Given the description of an element on the screen output the (x, y) to click on. 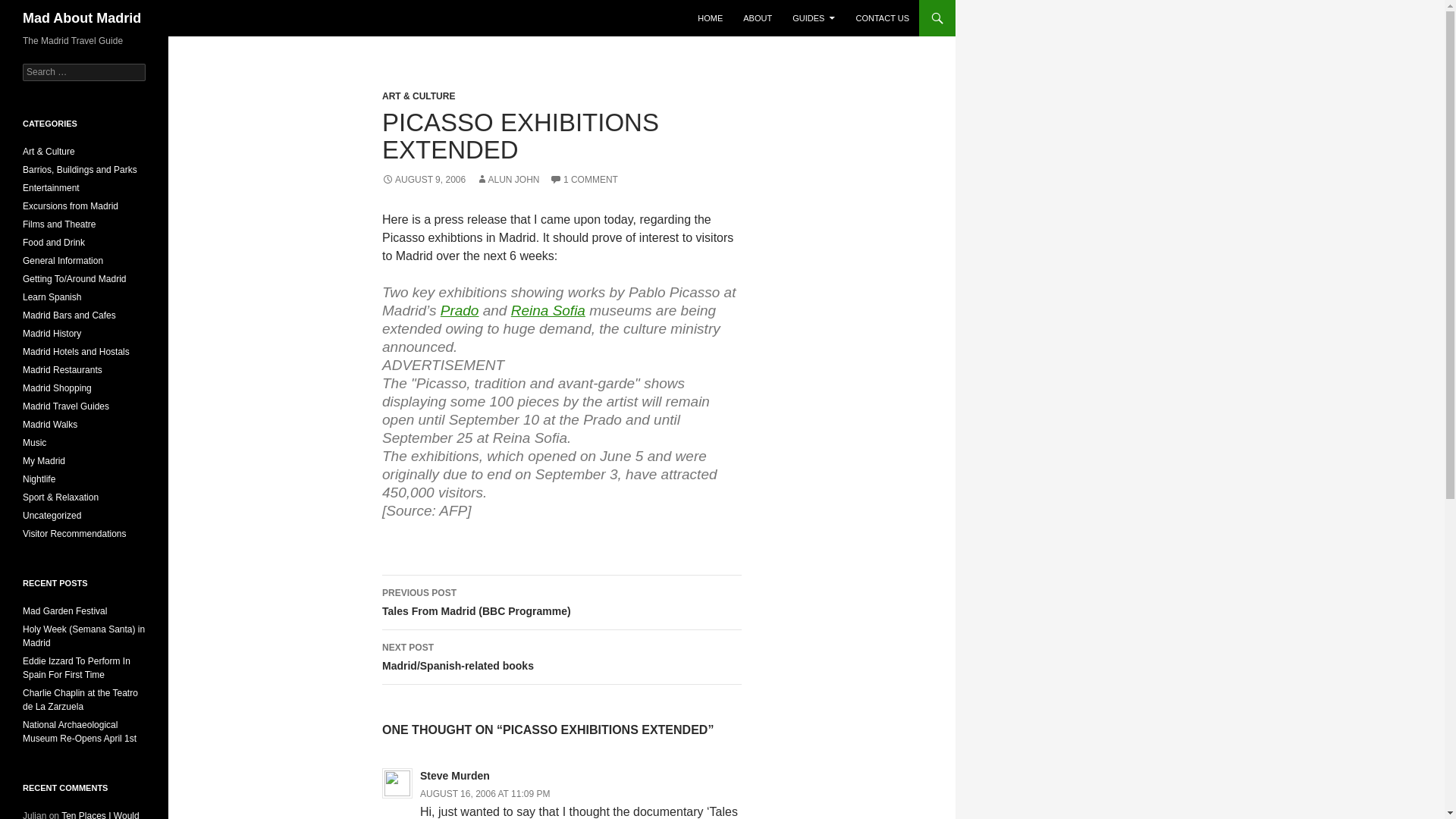
Entertainment (51, 187)
General Information (63, 260)
AUGUST 9, 2006 (423, 179)
Madrid Travel Guides (66, 406)
Learn Spanish (52, 296)
Madrid Restaurants (62, 369)
HOME (710, 18)
1 COMMENT (583, 179)
Food and Drink (53, 242)
ABOUT (756, 18)
AUGUST 16, 2006 AT 11:09 PM (485, 793)
Madrid Bars and Cafes (69, 315)
Films and Theatre (59, 224)
GUIDES (813, 18)
Excursions from Madrid (70, 205)
